Given the description of an element on the screen output the (x, y) to click on. 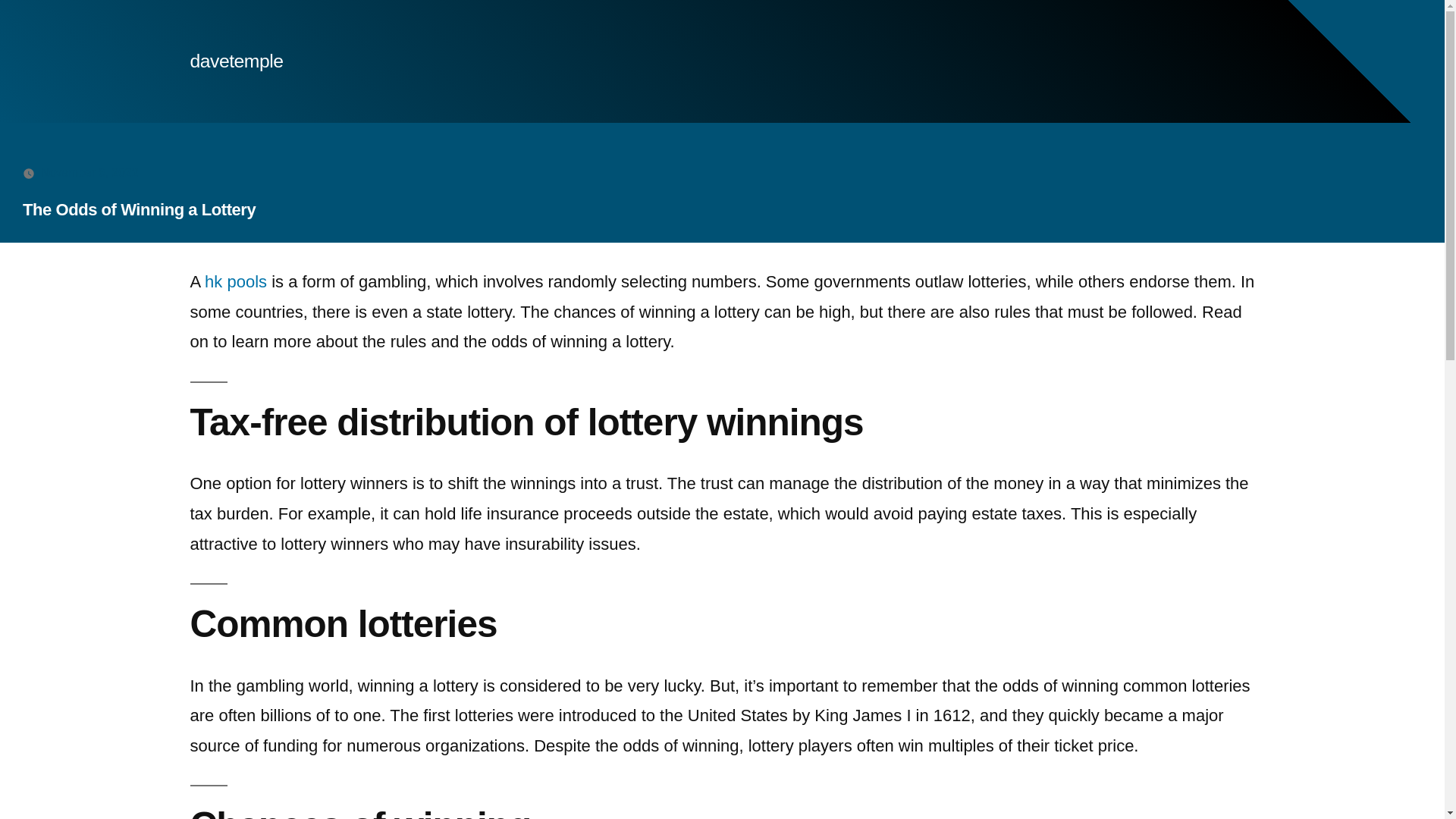
davetemple (235, 60)
November 6, 2022 (89, 172)
hk pools (235, 281)
